Given the description of an element on the screen output the (x, y) to click on. 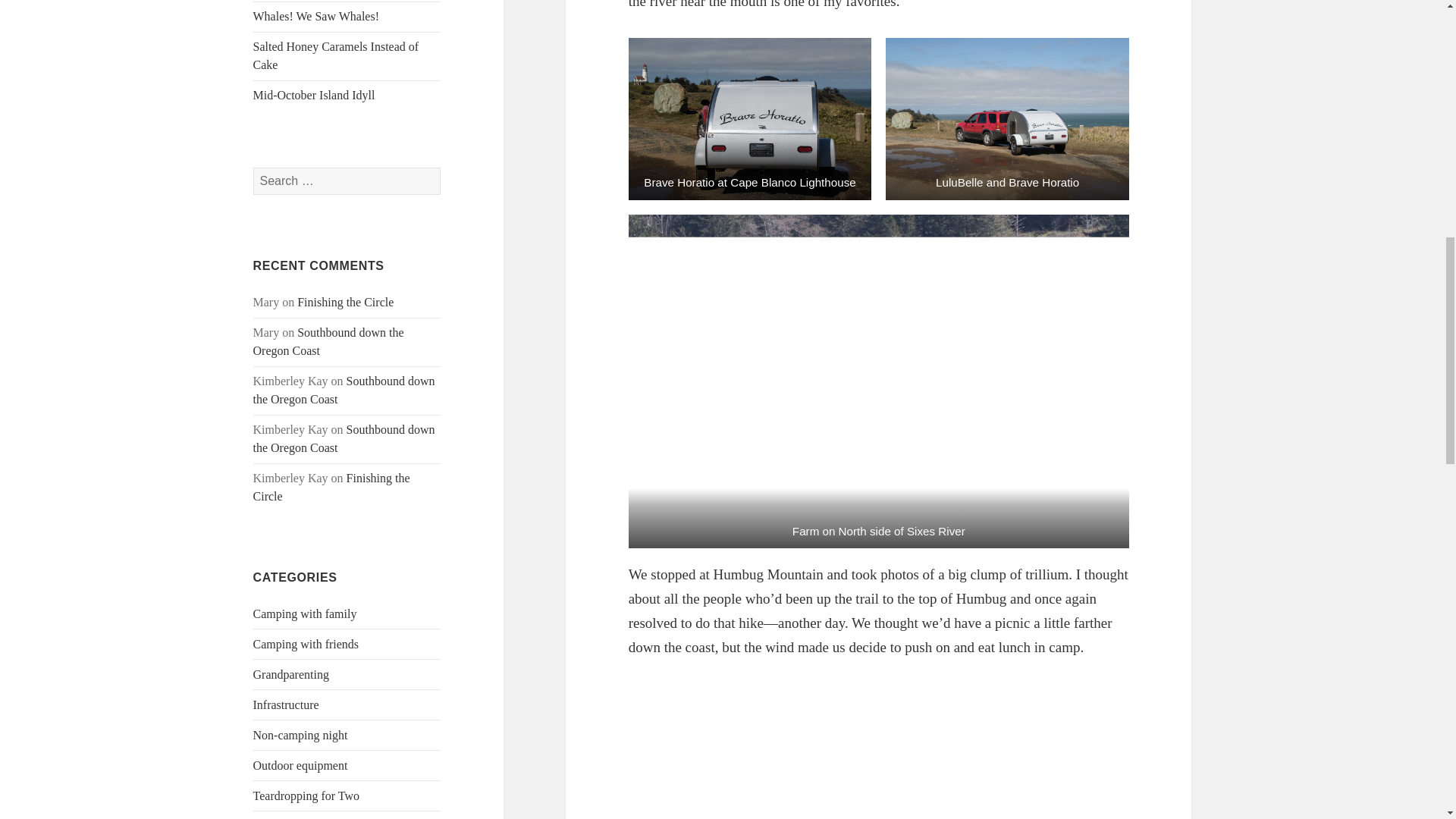
Salted Honey Caramels Instead of Cake (336, 55)
Finishing the Circle (345, 301)
Southbound down the Oregon Coast (344, 389)
Whales! We Saw Whales! (316, 15)
Outdoor equipment (300, 765)
Finishing the Circle (331, 486)
Camping with friends (306, 644)
Infrastructure (285, 704)
Mid-October Island Idyll (314, 94)
Southbound down the Oregon Coast (344, 438)
Camping with family (304, 613)
Non-camping night (300, 735)
Southbound down the Oregon Coast (328, 341)
